Given the description of an element on the screen output the (x, y) to click on. 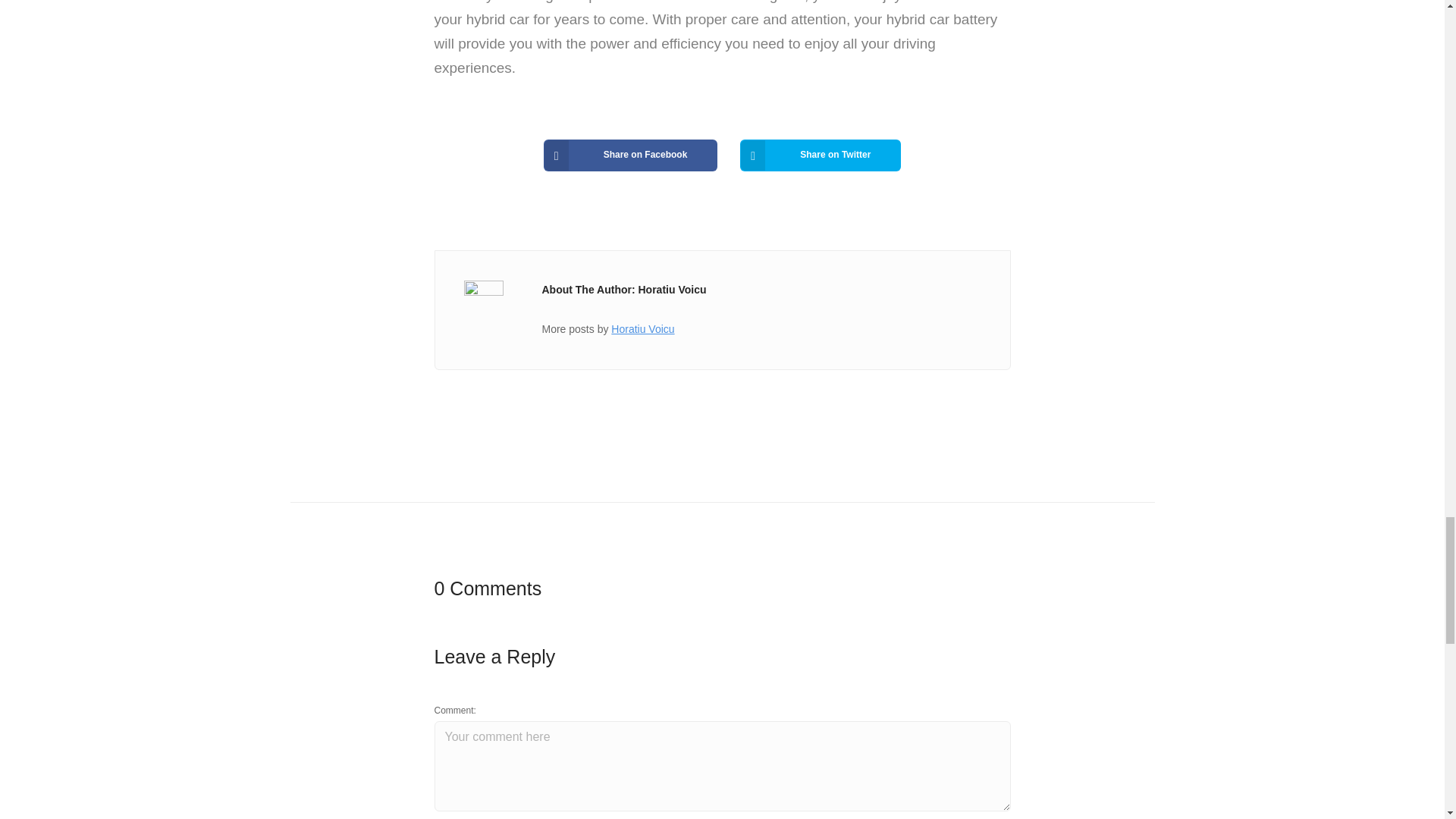
Share on Twitter (820, 155)
Share on Facebook (630, 155)
Posts by Horatiu Voicu (642, 328)
Horatiu Voicu (642, 328)
